Given the description of an element on the screen output the (x, y) to click on. 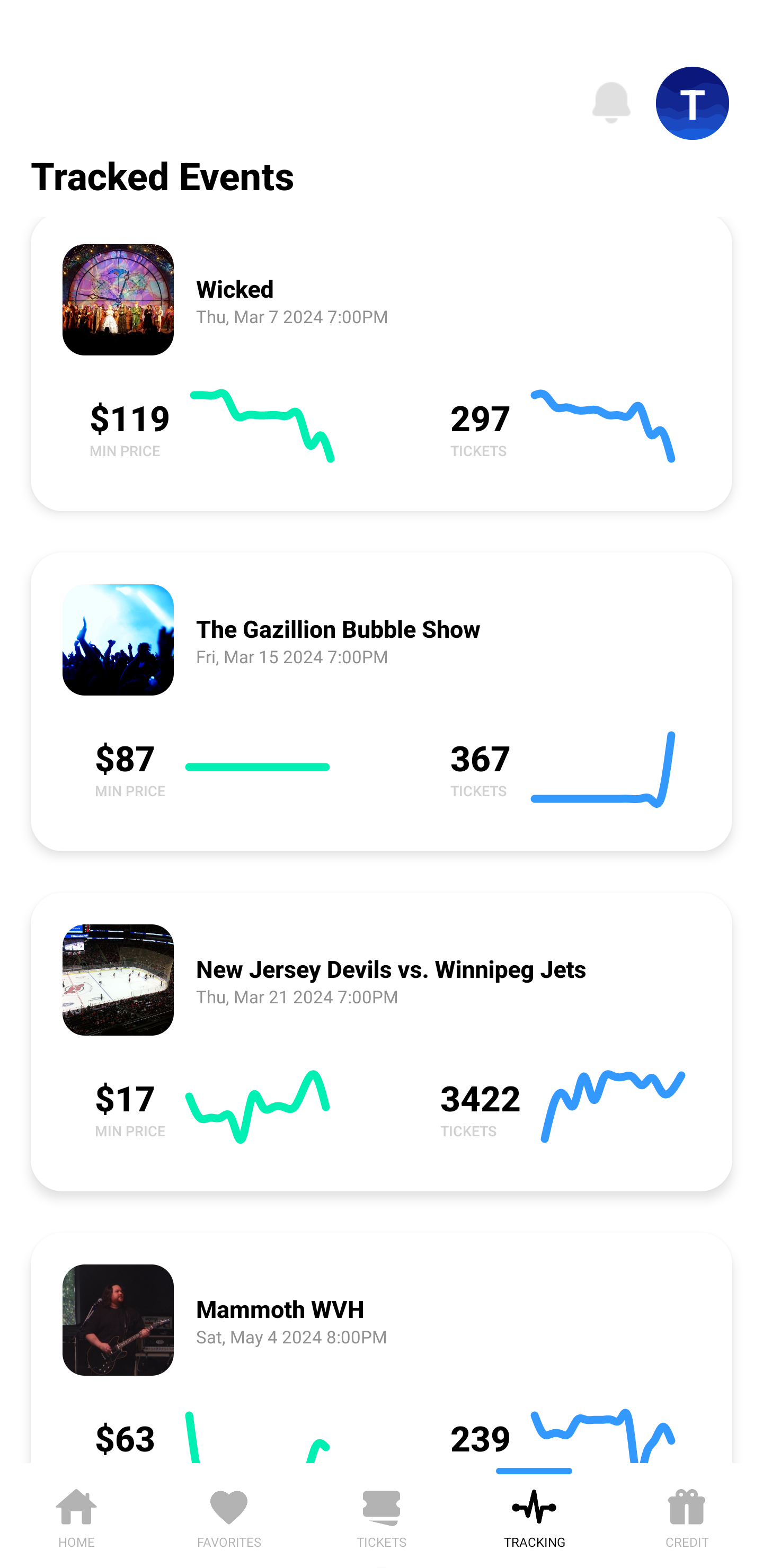
T (692, 103)
HOME (76, 1515)
FAVORITES (228, 1515)
TICKETS (381, 1515)
TRACKING (533, 1515)
CREDIT (686, 1515)
